Given the description of an element on the screen output the (x, y) to click on. 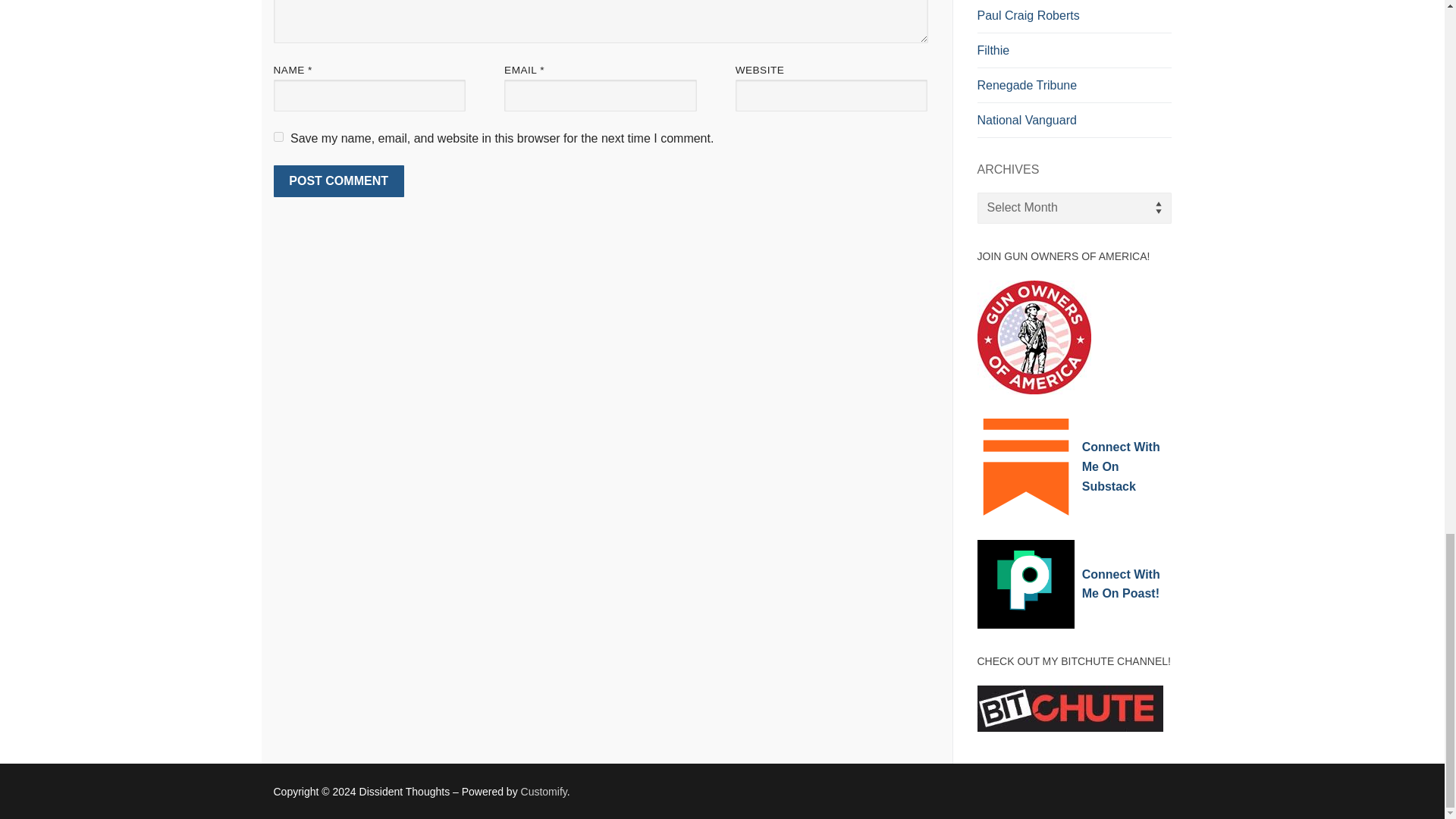
Post Comment (338, 181)
Post Comment (338, 181)
yes (277, 136)
